Given the description of an element on the screen output the (x, y) to click on. 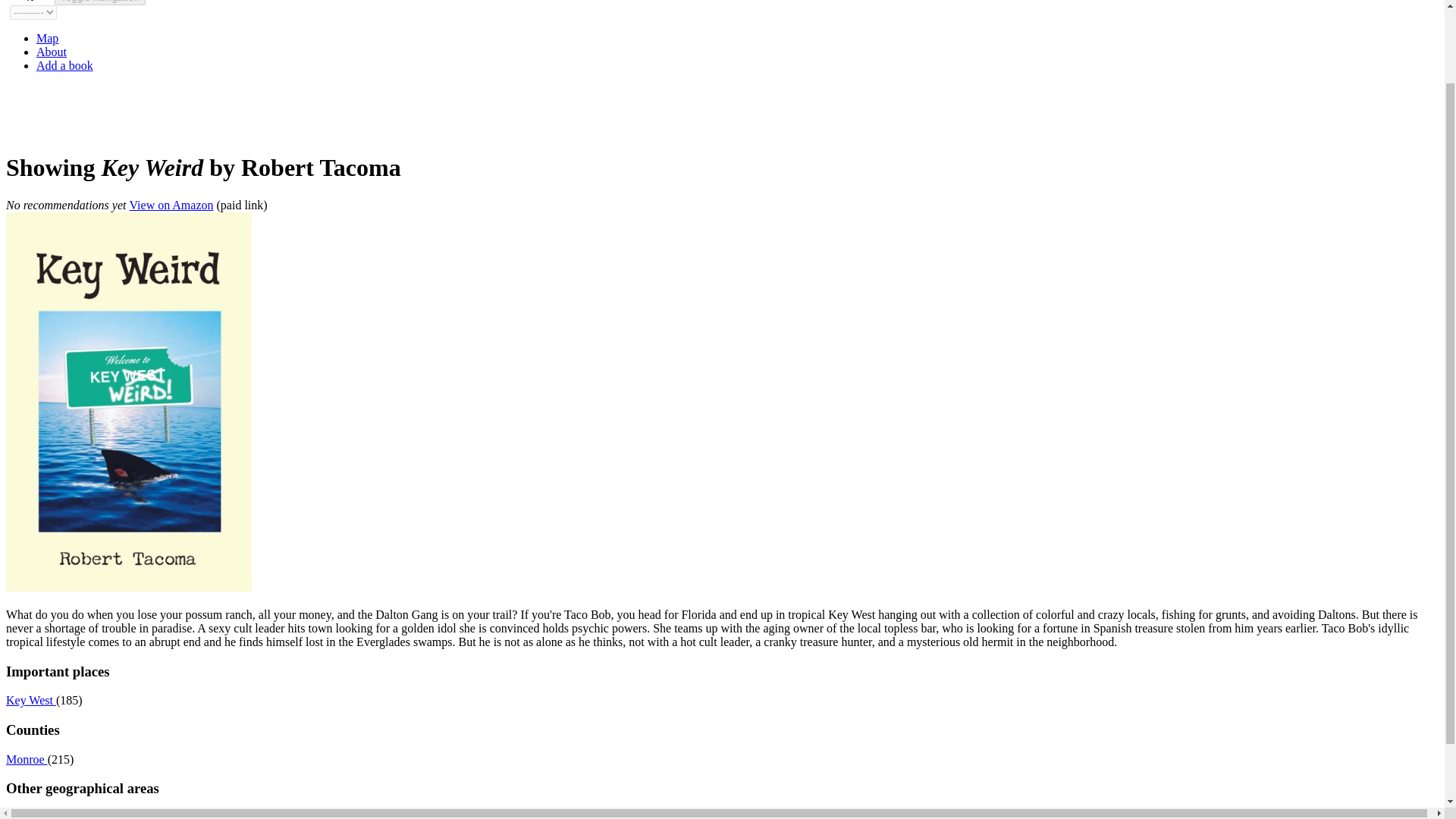
Toggle navigation (100, 2)
Add a book (64, 65)
Monroe (26, 758)
Map (47, 38)
About (51, 51)
Key West (30, 699)
View on Amazon (170, 205)
